Given the description of an element on the screen output the (x, y) to click on. 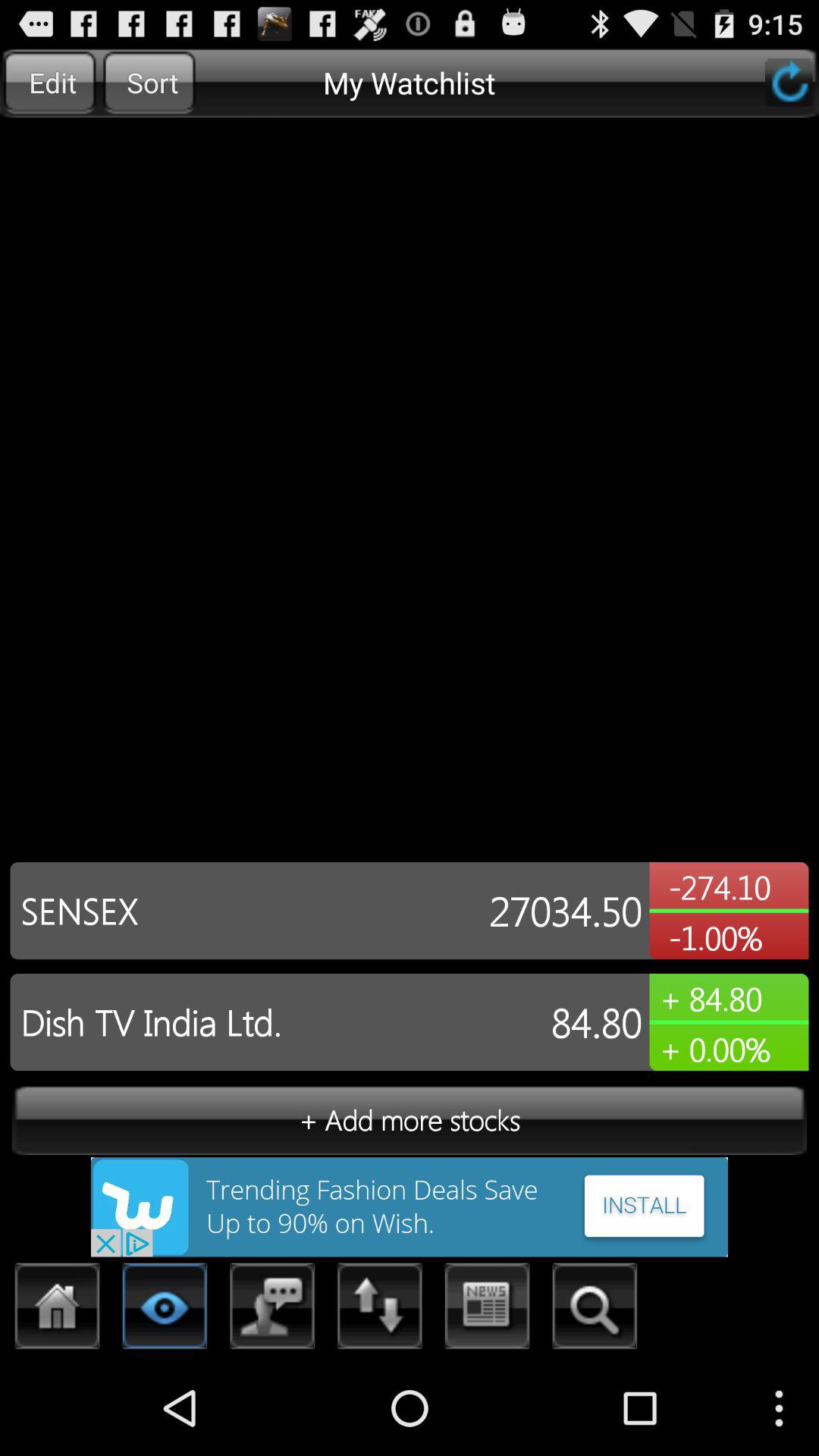
record a conversation (272, 1310)
